Given the description of an element on the screen output the (x, y) to click on. 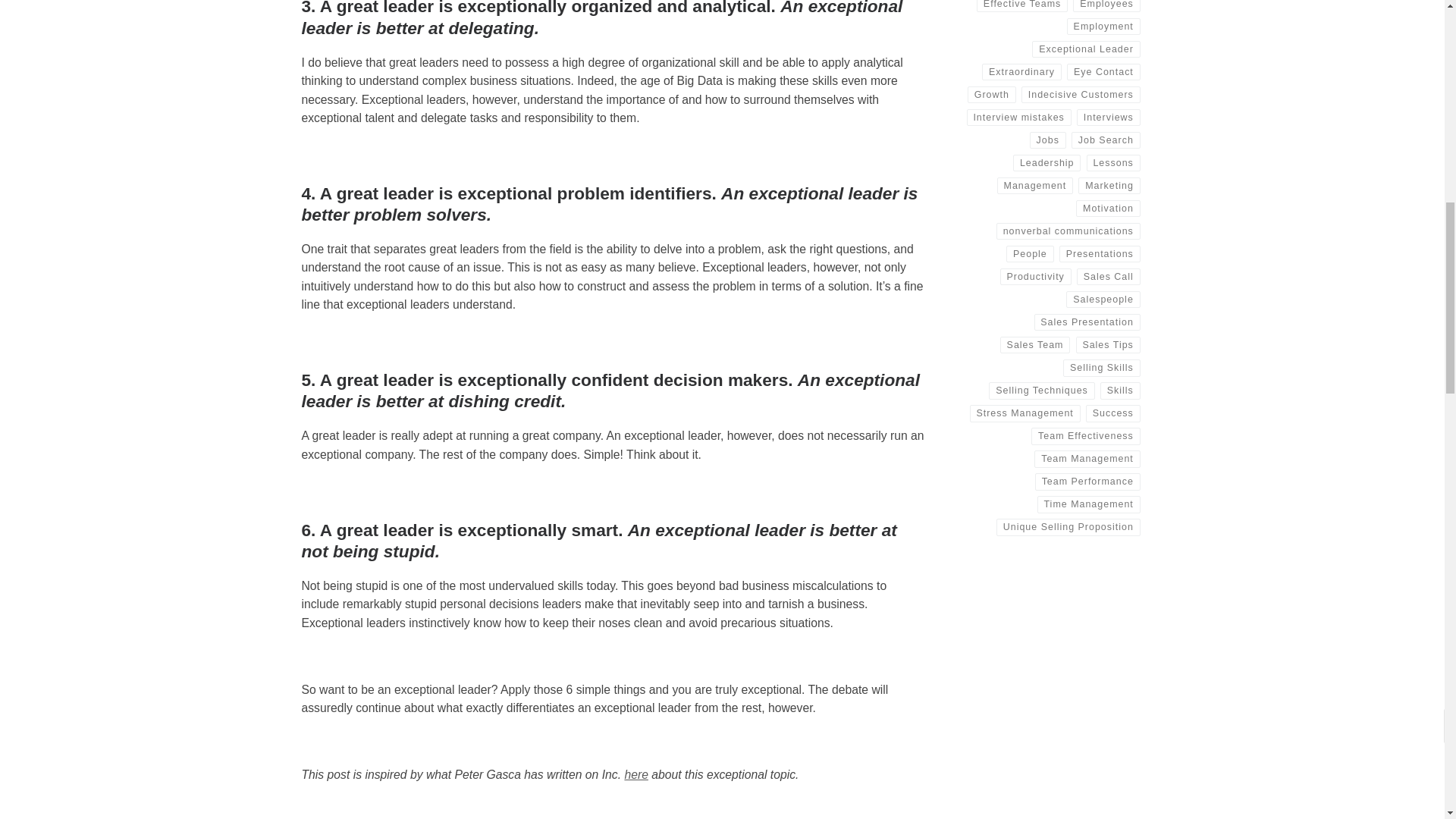
here (635, 774)
